Given the description of an element on the screen output the (x, y) to click on. 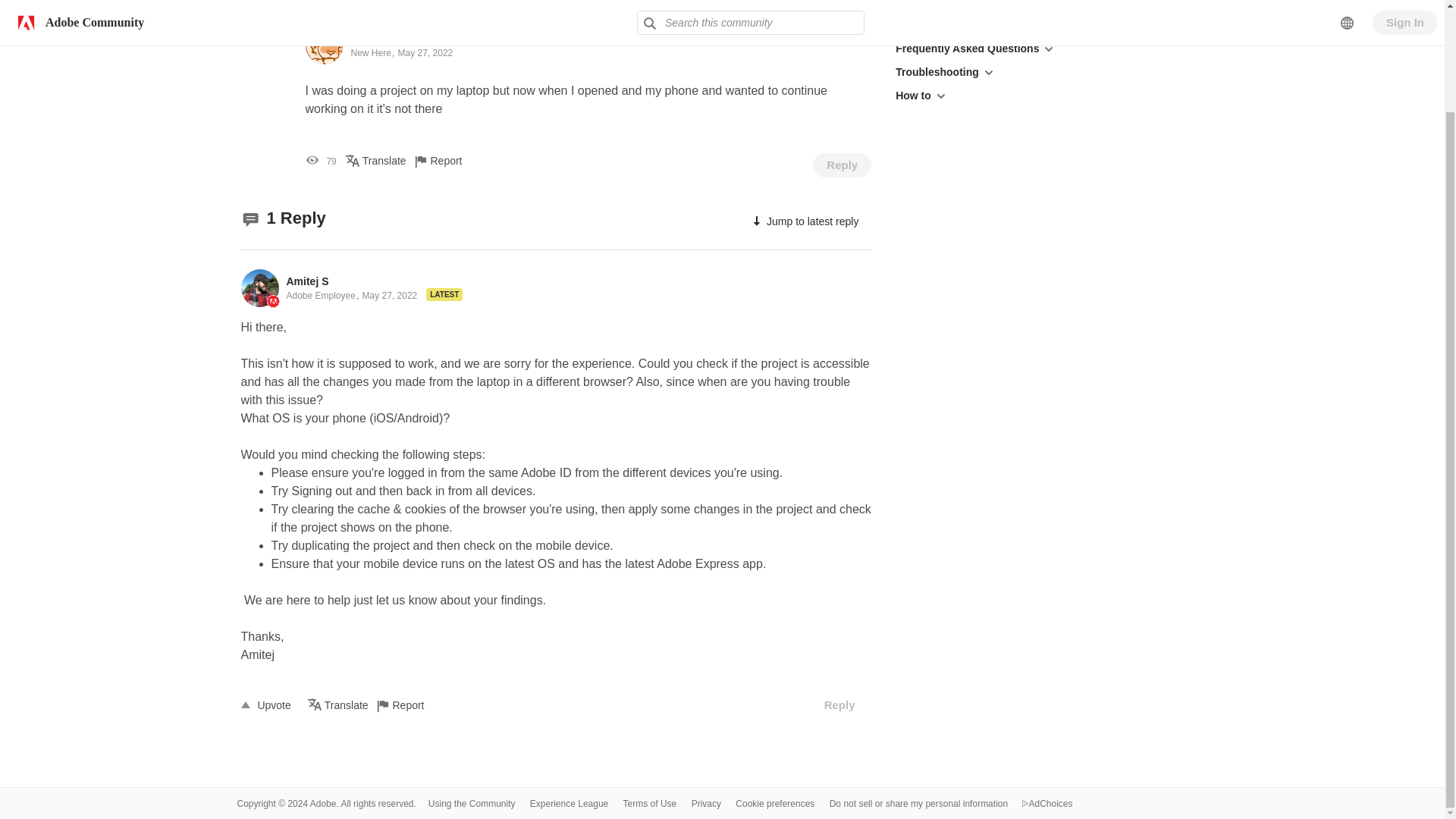
Amitej S (307, 280)
Report (448, 160)
Siddig24627635boos (402, 37)
Reply (841, 165)
Report (410, 705)
Jump to latest reply (804, 221)
